Given the description of an element on the screen output the (x, y) to click on. 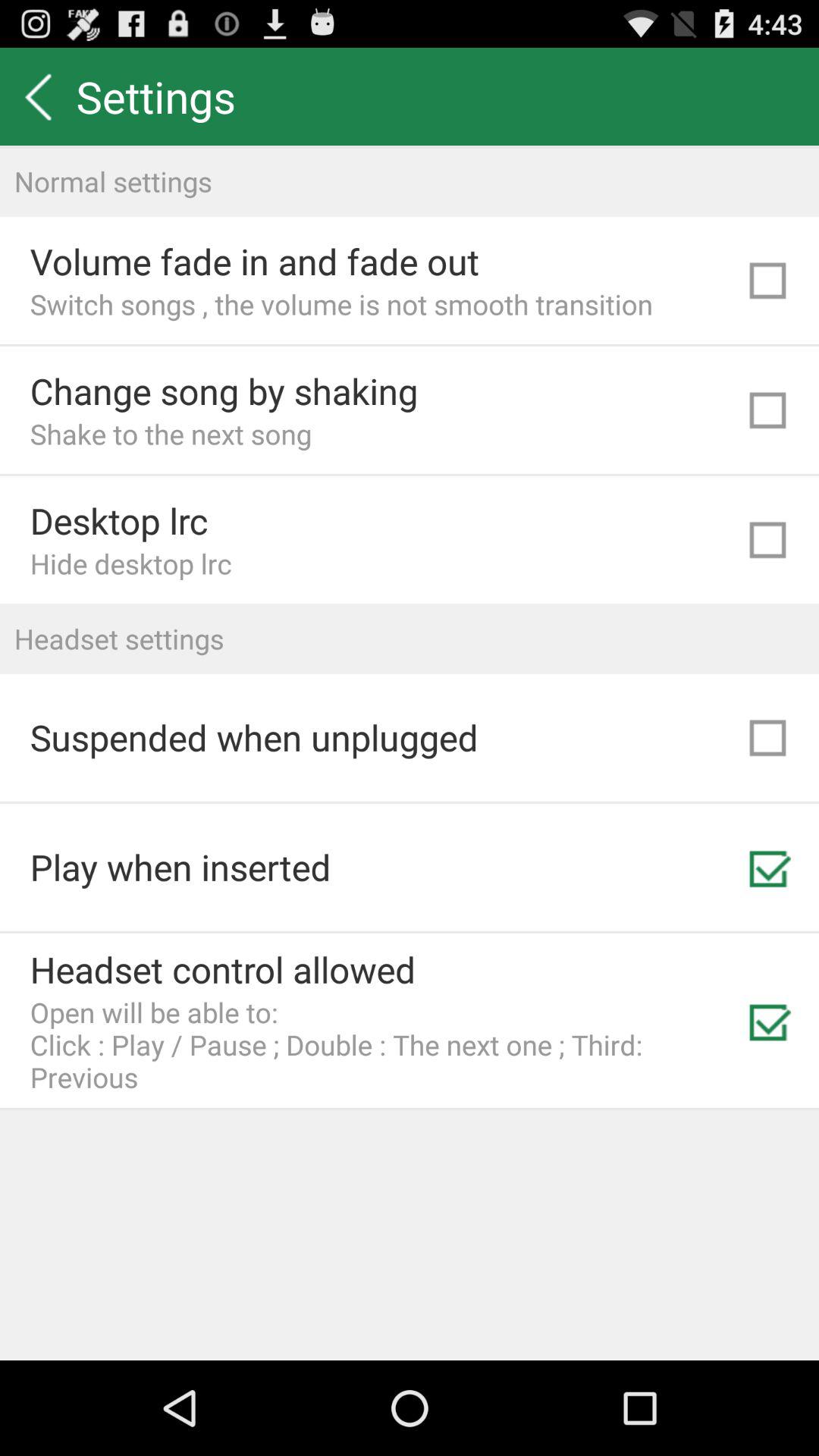
turn on suspended when unplugged app (254, 737)
